Given the description of an element on the screen output the (x, y) to click on. 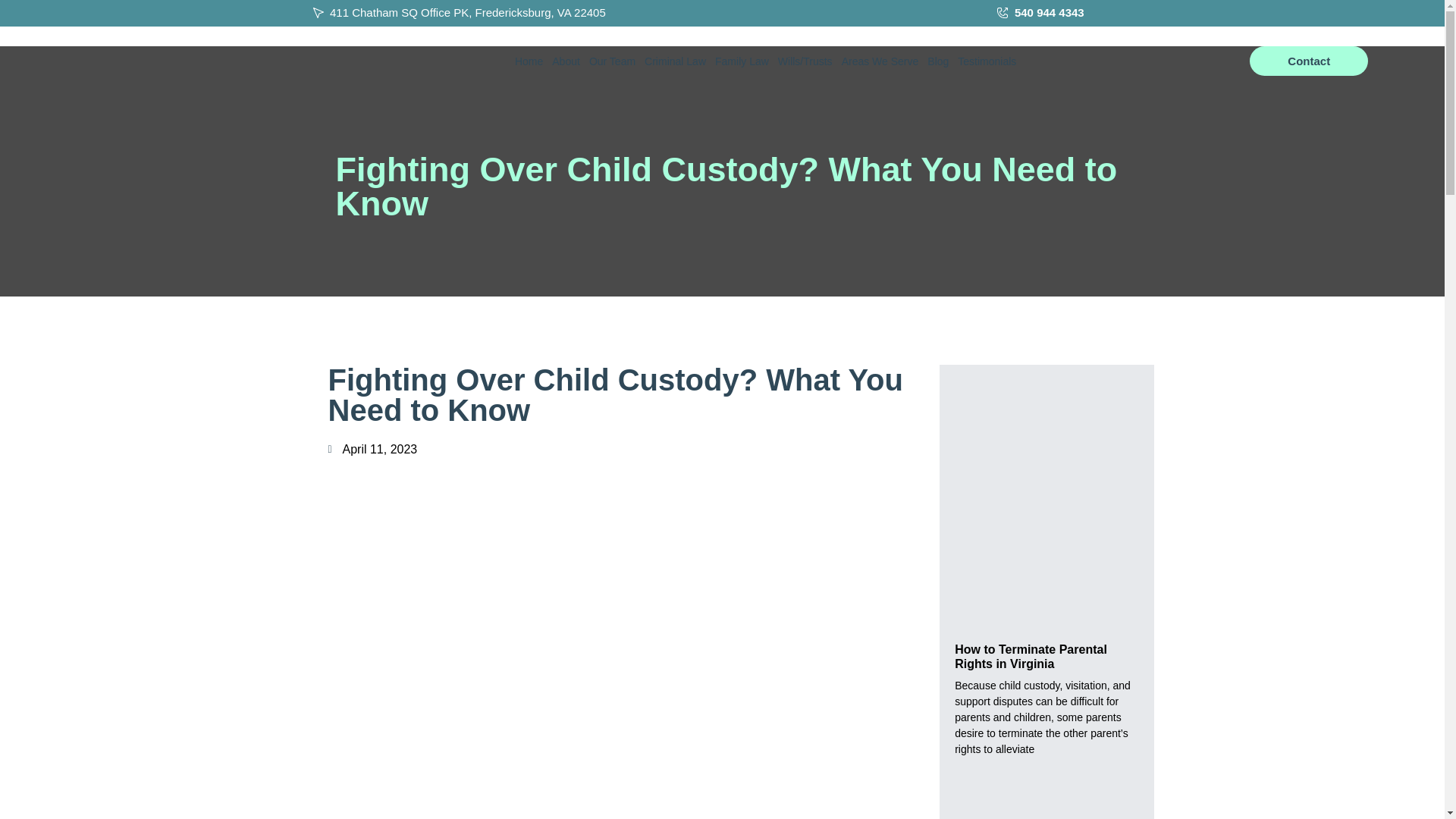
Criminal Law (675, 61)
Home (529, 61)
Family Law (741, 61)
About (566, 61)
Areas We Serve (880, 61)
Testimonials (986, 61)
540 944 4343 (1072, 13)
Our Team (612, 61)
